Given the description of an element on the screen output the (x, y) to click on. 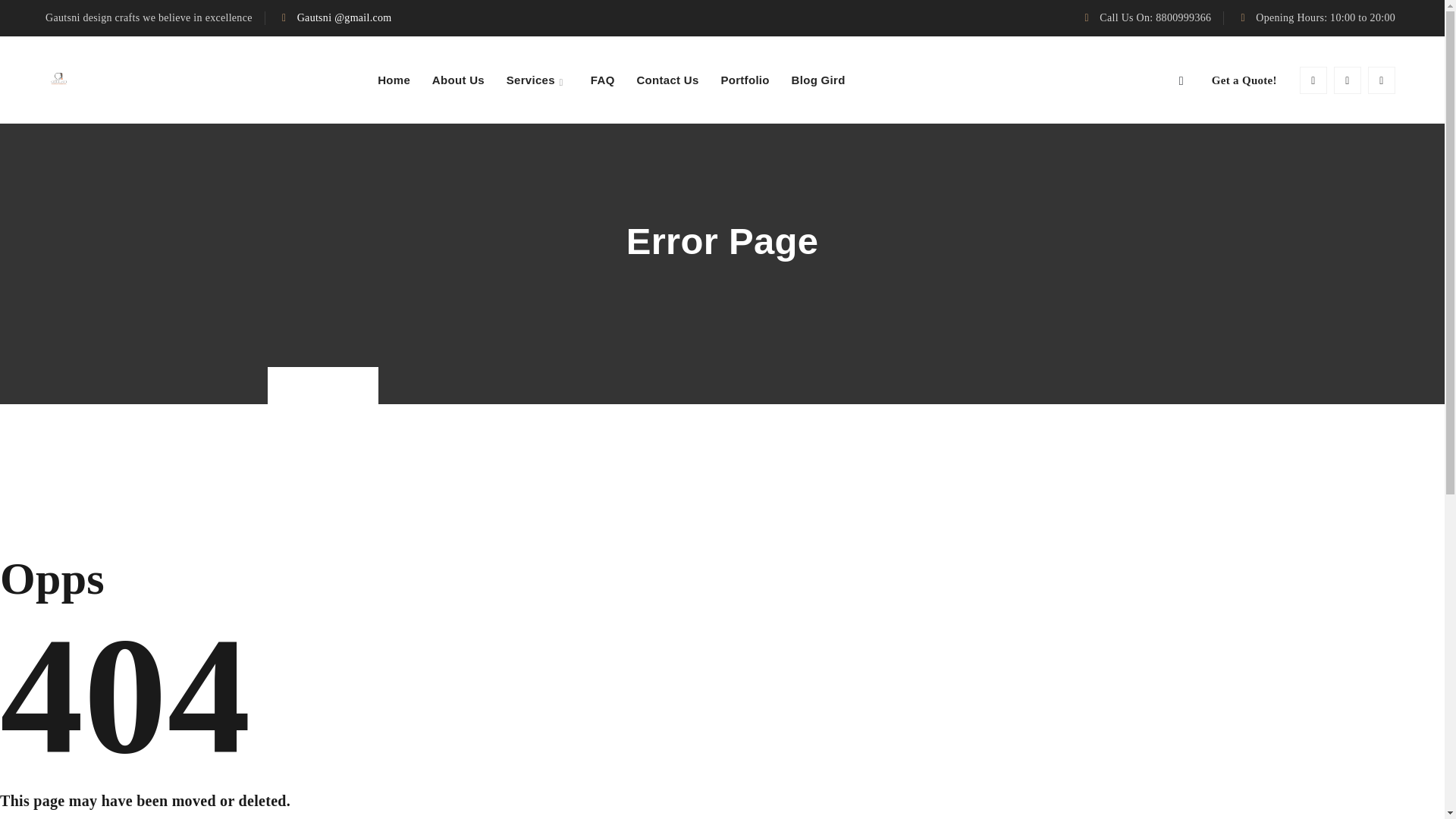
Get a Quote! (1243, 80)
Contact Us (666, 79)
Go to 404. (356, 384)
  Home (306, 384)
Go to . (306, 384)
404 (356, 384)
